Given the description of an element on the screen output the (x, y) to click on. 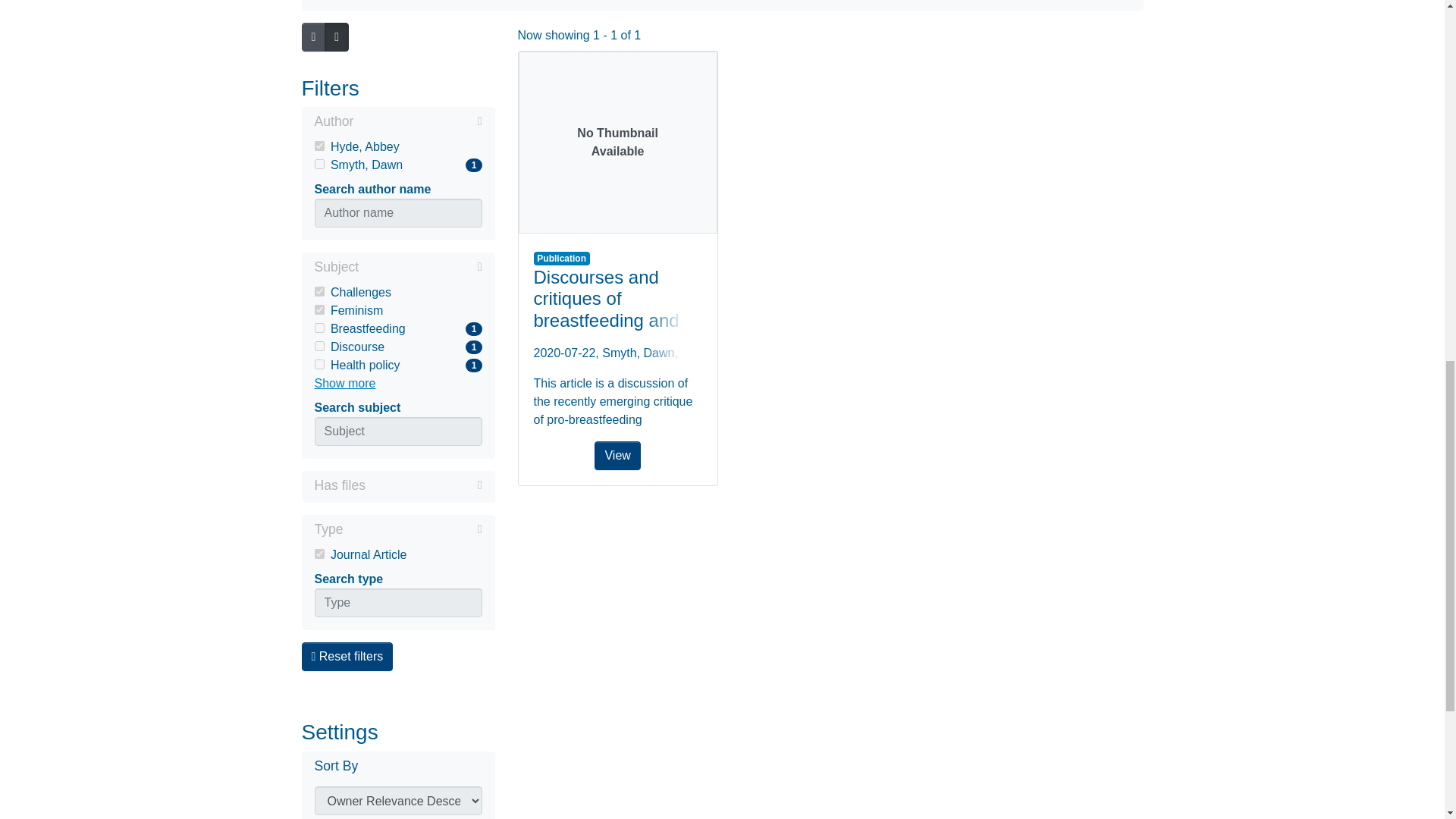
on (318, 145)
Collapse filter (397, 329)
on (419, 266)
Author (318, 163)
on (397, 122)
on (318, 309)
View (318, 291)
on (617, 142)
Collapse filter (318, 346)
Challenges (412, 529)
Expand filter (397, 165)
Feminism (397, 292)
on (423, 484)
